Given the description of an element on the screen output the (x, y) to click on. 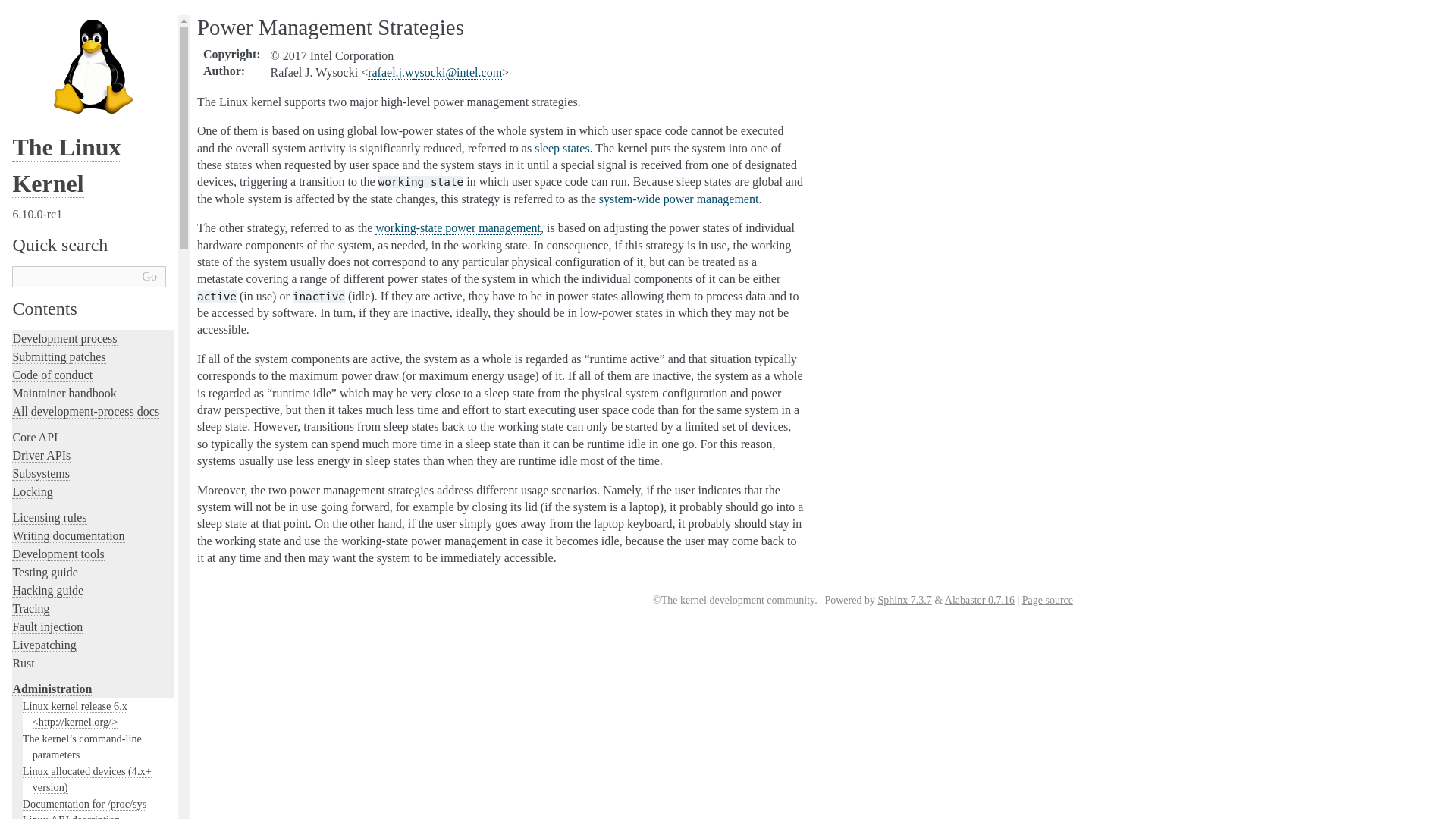
Licensing rules (48, 517)
Submitting patches (57, 356)
Development tools (57, 554)
Driver APIs (40, 455)
Development process (63, 338)
Code of conduct (52, 375)
Go (149, 276)
Core API (34, 437)
Go (149, 276)
Locking (31, 491)
Writing documentation (67, 535)
All development-process docs (84, 411)
Testing guide (44, 572)
Subsystems (40, 473)
Maintainer handbook (63, 393)
